Given the description of an element on the screen output the (x, y) to click on. 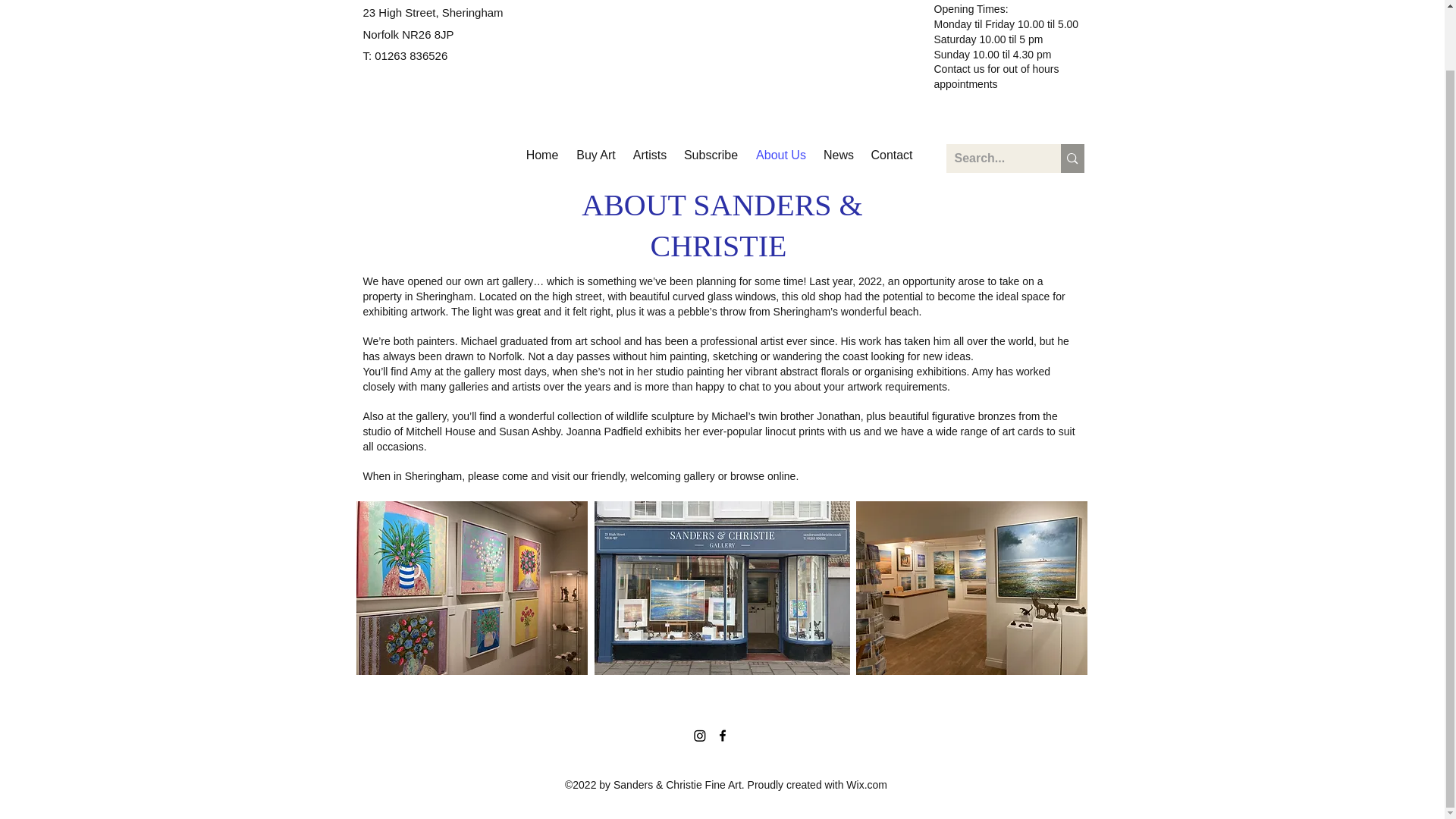
Contact (891, 155)
Artists (649, 155)
About Us (780, 155)
News (838, 155)
Home (541, 155)
Buy Art (595, 155)
Subscribe (710, 155)
